Given the description of an element on the screen output the (x, y) to click on. 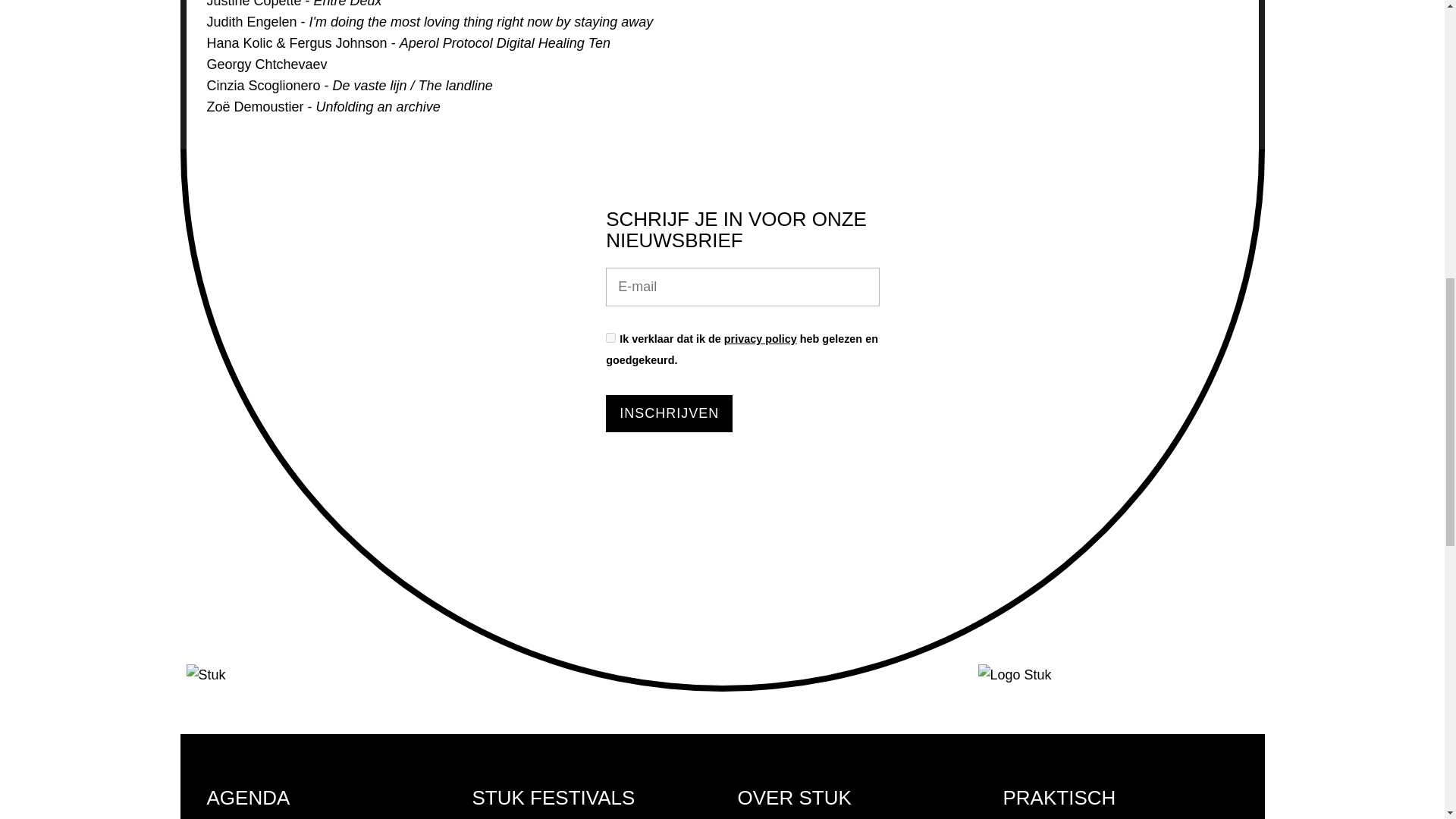
on (610, 337)
